Given the description of an element on the screen output the (x, y) to click on. 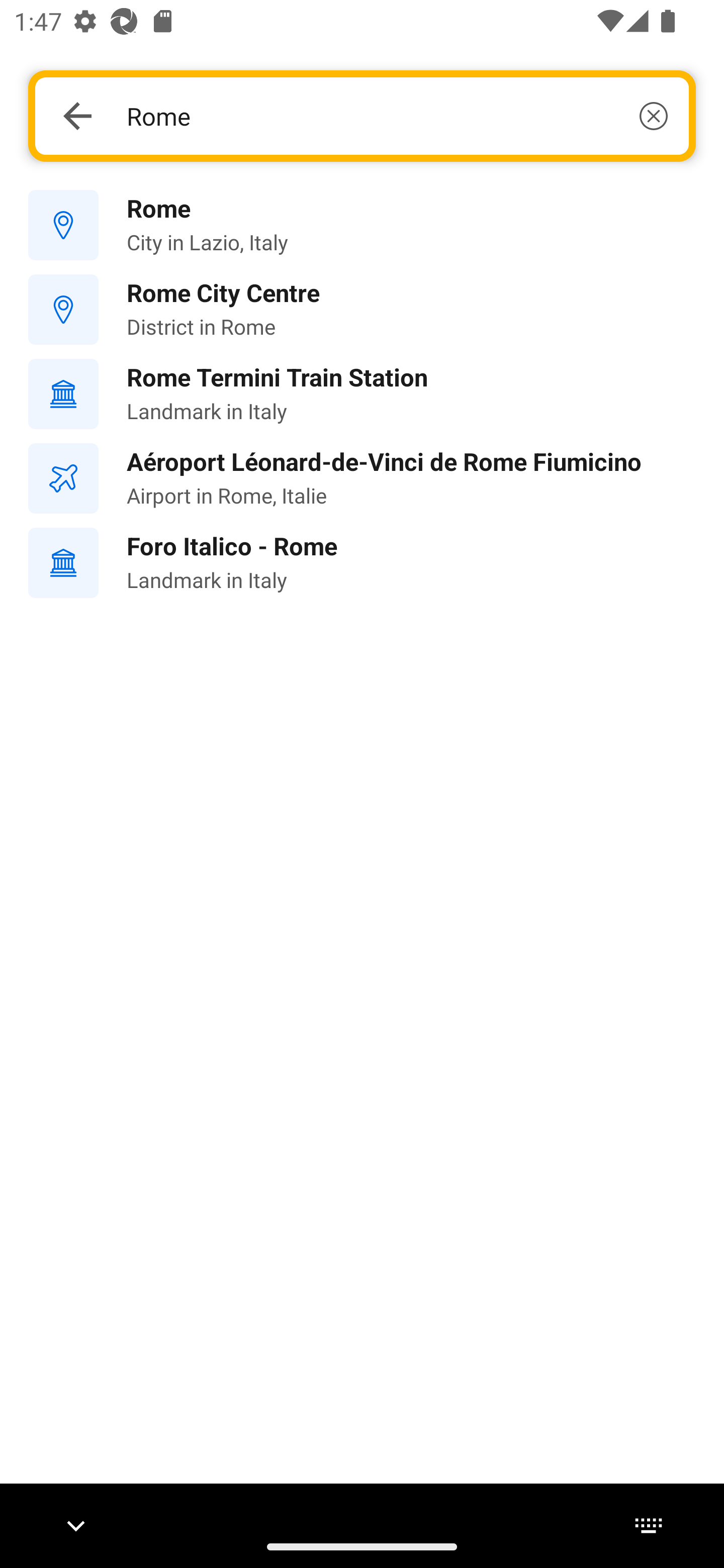
Rome (396, 115)
Rome City in Lazio, Italy (362, 225)
Rome City Centre District in Rome (362, 309)
Rome Termini Train Station Landmark in Italy (362, 393)
Foro Italico - Rome Landmark in Italy (362, 562)
